Given the description of an element on the screen output the (x, y) to click on. 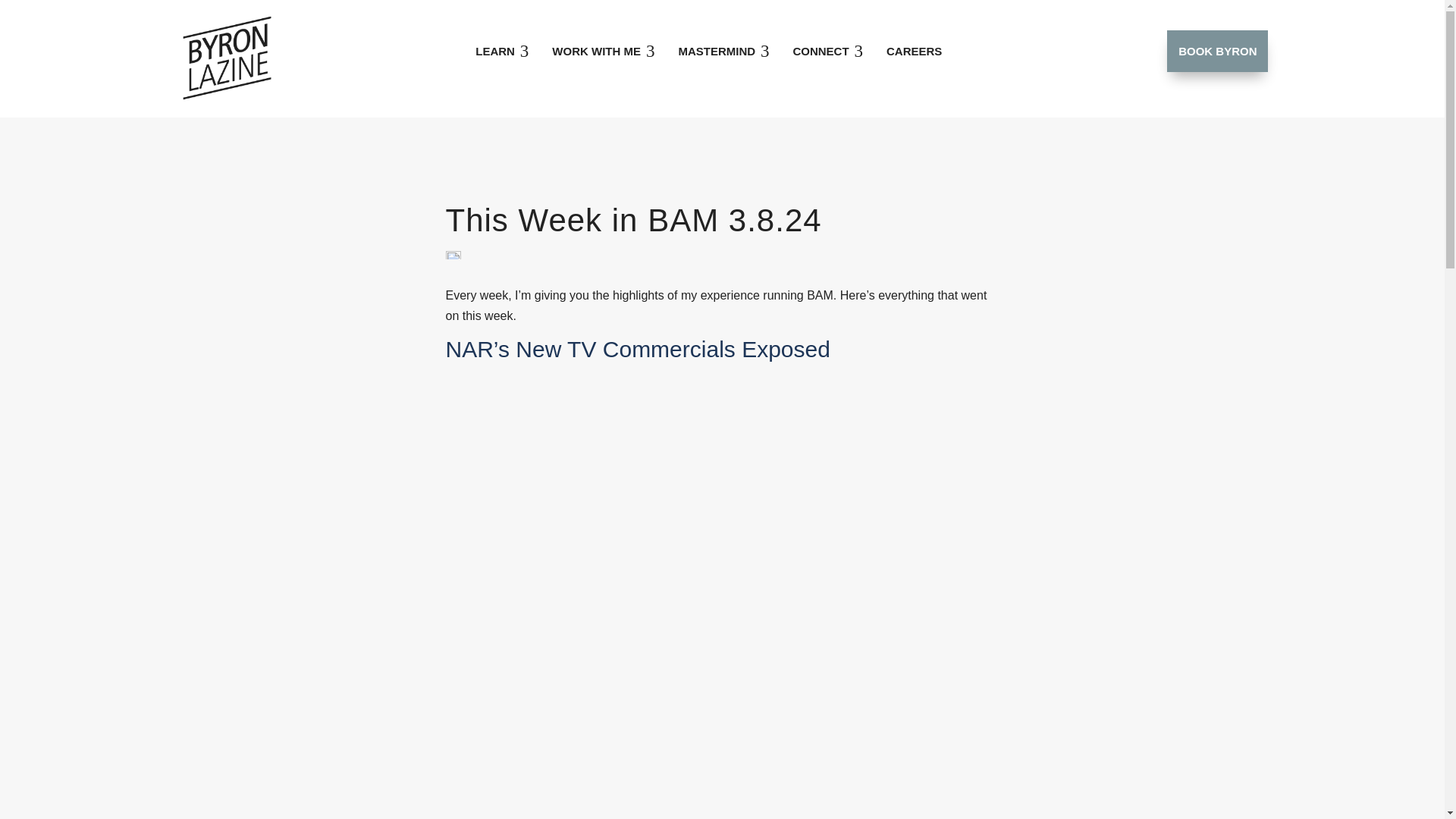
CAREERS (914, 50)
BOOK BYRON (502, 51)
